Given the description of an element on the screen output the (x, y) to click on. 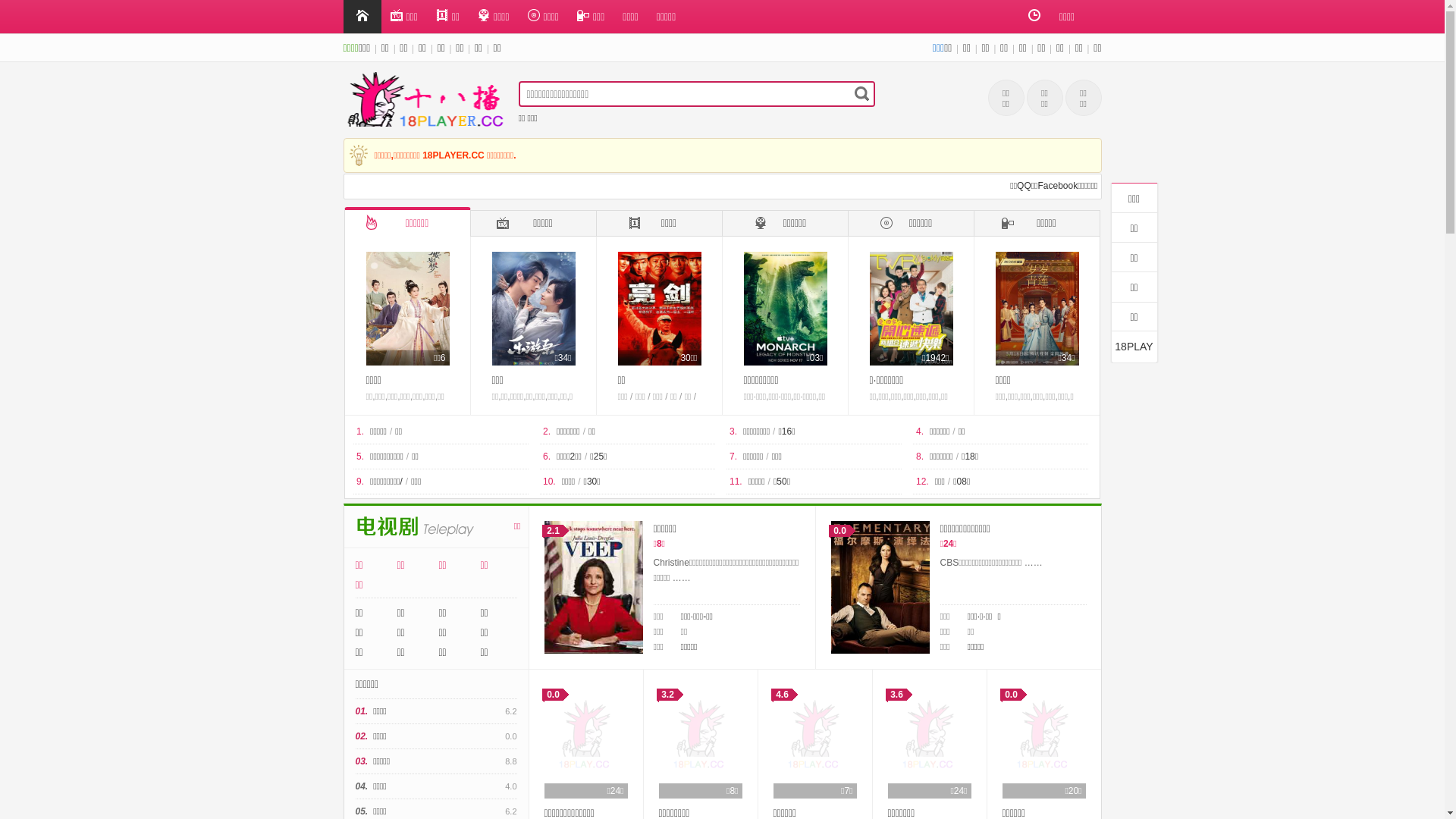
Facebook Element type: text (1057, 185)
0.0 Element type: text (880, 586)
2.1 Element type: text (593, 586)
